Given the description of an element on the screen output the (x, y) to click on. 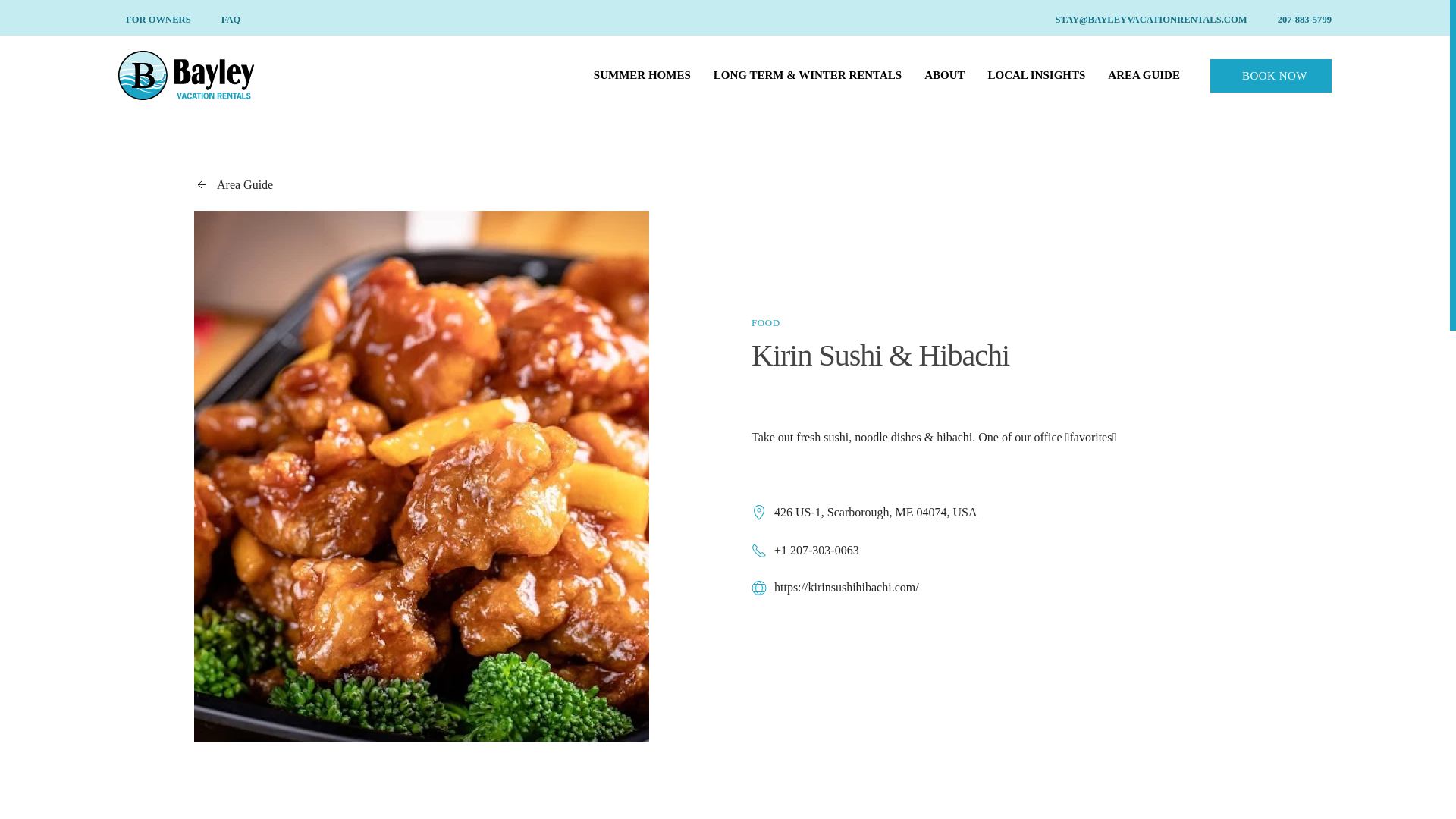
426 US-1, Scarborough, ME 04074, USA (1003, 512)
FOR OWNERS (153, 19)
SUMMER HOMES (642, 75)
207-883-5799 (1300, 19)
BOOK NOW (1270, 75)
426 US-1, Scarborough, ME 04074, USA (863, 512)
LOCAL INSIGHTS (1037, 75)
ABOUT (943, 75)
Area Guide (445, 183)
Area Guide (233, 184)
